Given the description of an element on the screen output the (x, y) to click on. 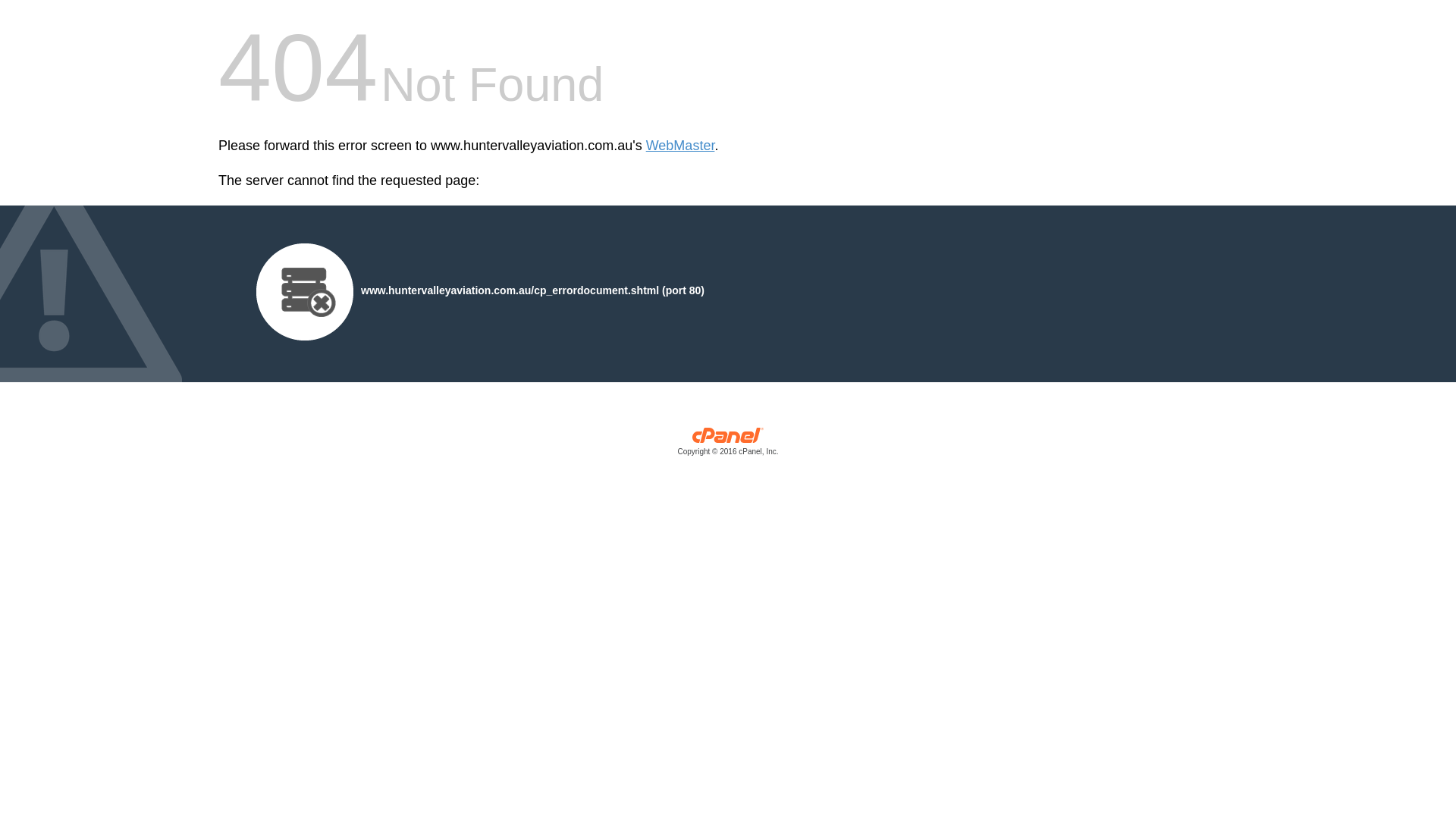
WebMaster Element type: text (680, 145)
